Given the description of an element on the screen output the (x, y) to click on. 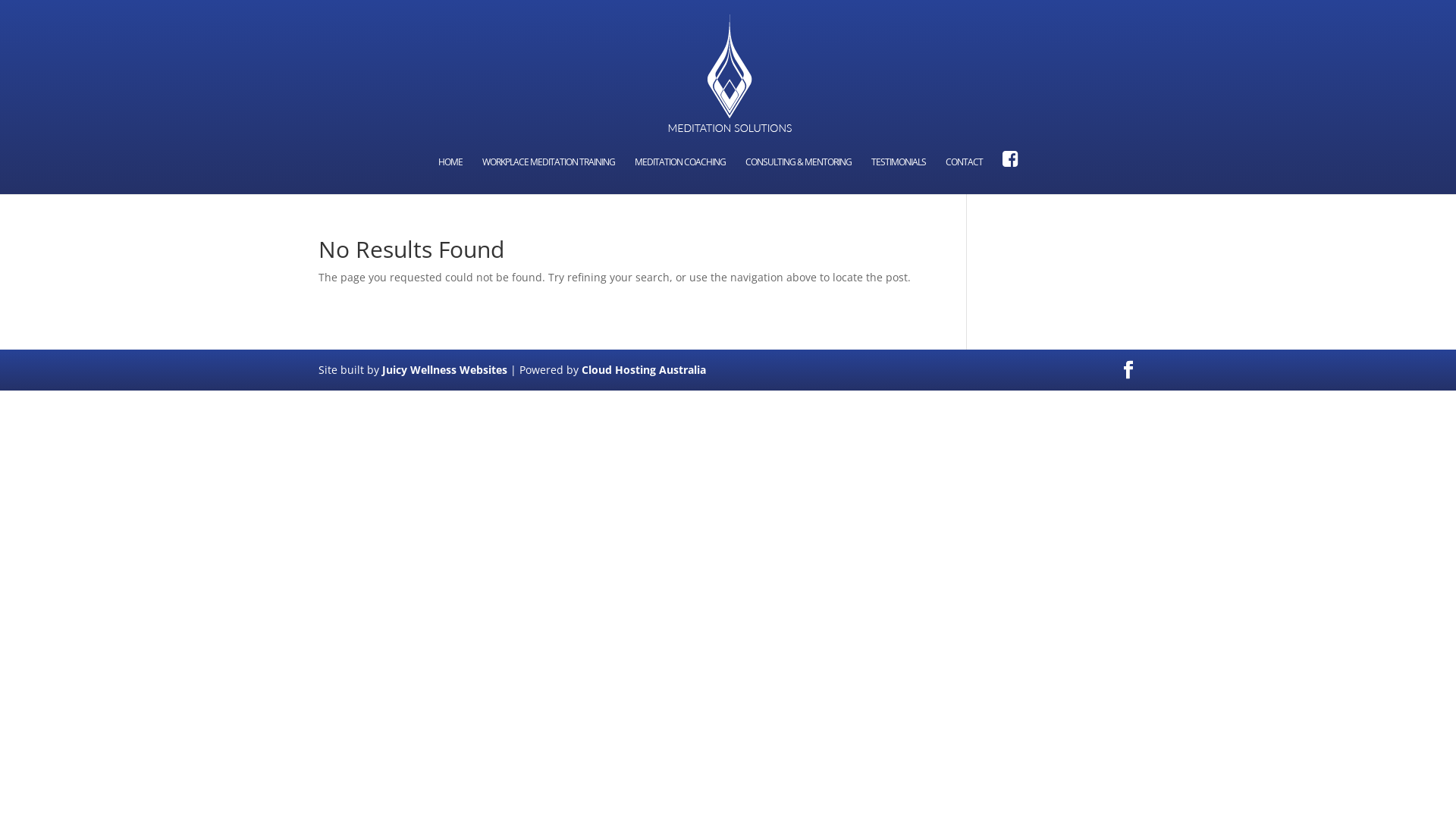
Juicy Wellness Websites Element type: text (444, 369)
CONTACT Element type: text (963, 175)
HOME Element type: text (450, 175)
CONSULTING & MENTORING Element type: text (798, 175)
Cloud Hosting Australia Element type: text (643, 369)
WORKPLACE MEDITATION TRAINING Element type: text (548, 175)
MEDITATION COACHING Element type: text (679, 175)
TESTIMONIALS Element type: text (898, 175)
